Given the description of an element on the screen output the (x, y) to click on. 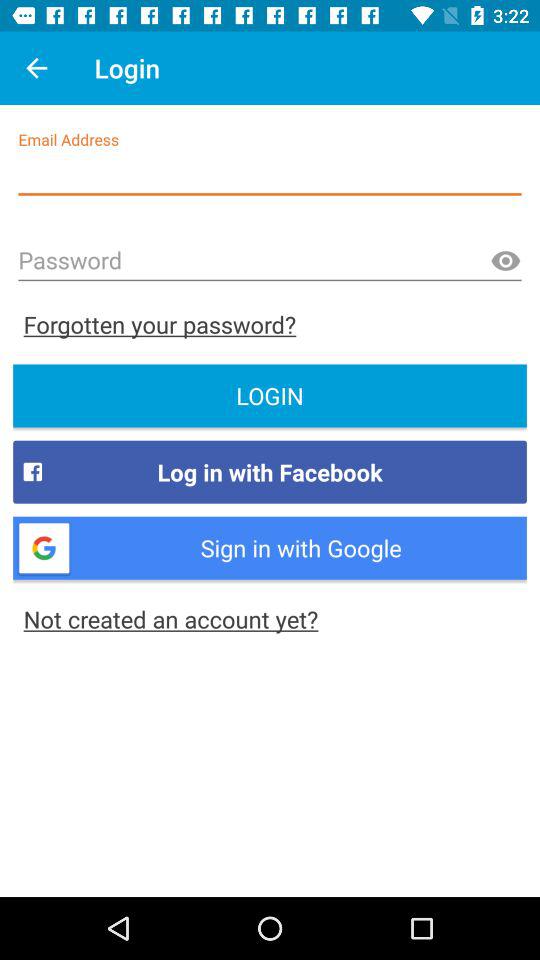
enter email address (269, 174)
